Given the description of an element on the screen output the (x, y) to click on. 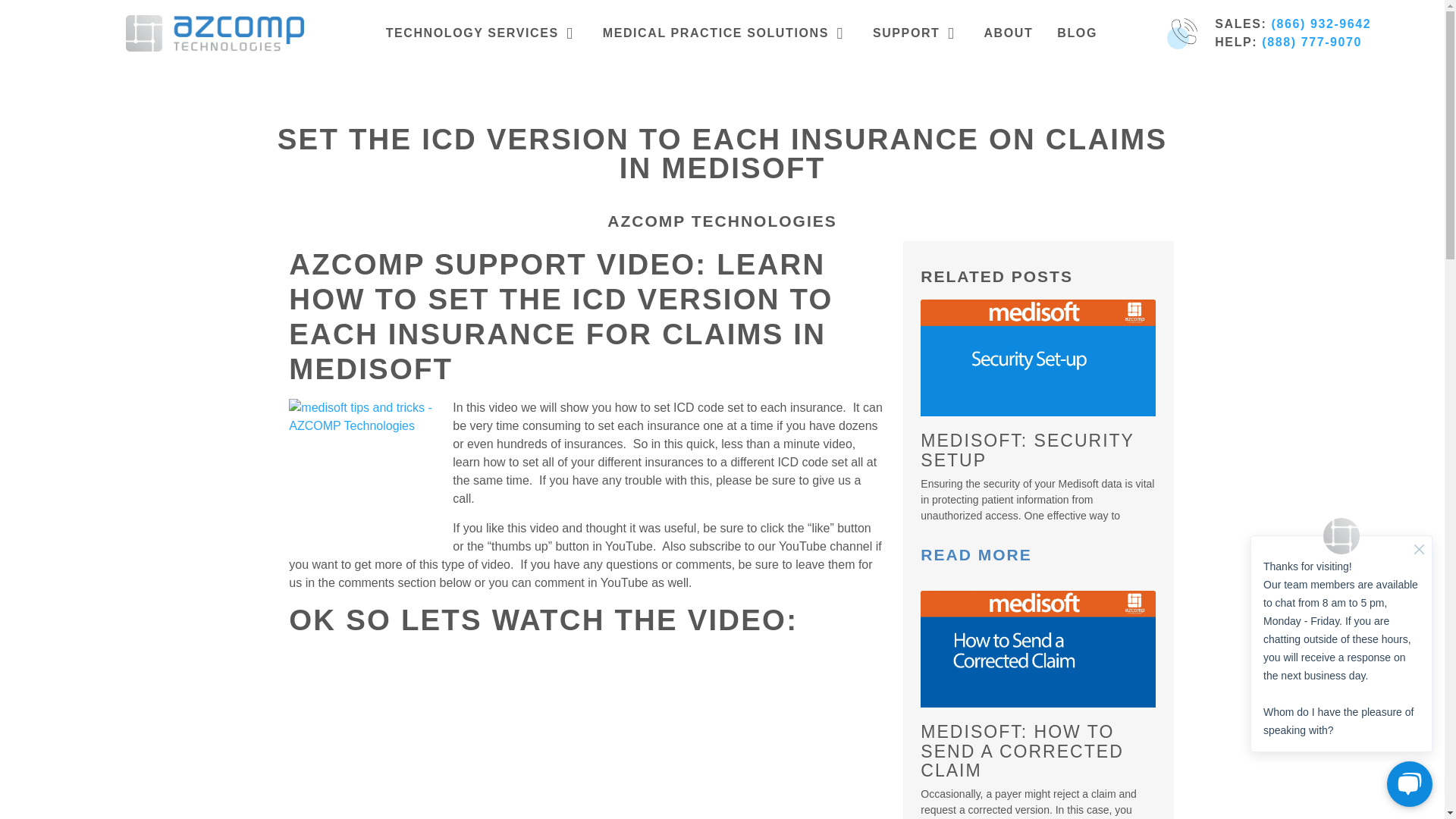
azcomp-lg-logo - AZCOMP Technologies (214, 33)
SalesIcon - AZCOMP Technologies (1181, 33)
MEDICAL PRACTICE SOLUTIONS (715, 33)
TECHNOLOGY SERVICES (472, 33)
BLOG (1077, 33)
 - AZCOMP Technologies (364, 474)
SUPPORT (906, 33)
ABOUT (1008, 33)
